Given the description of an element on the screen output the (x, y) to click on. 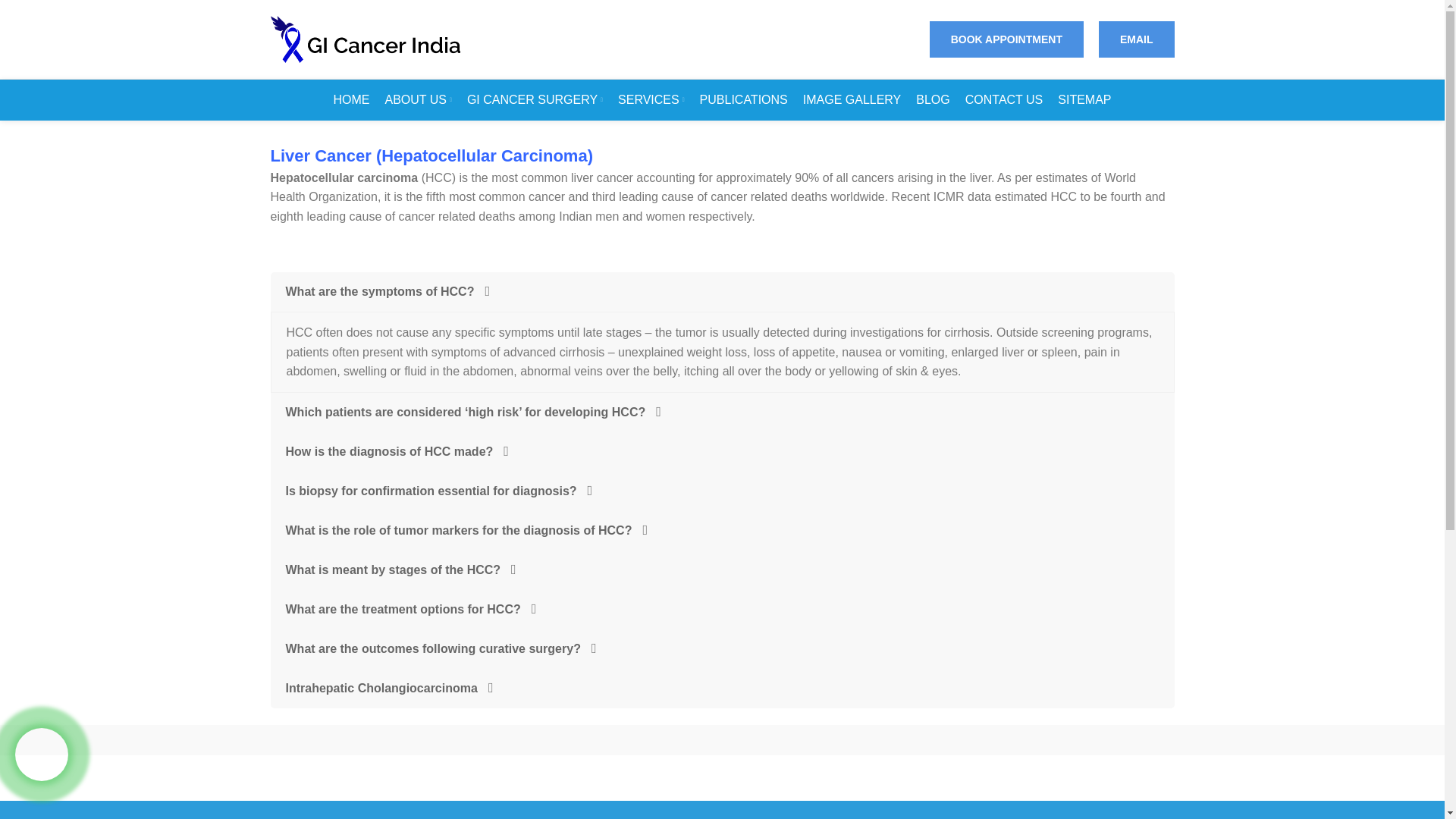
EMAIL (1136, 39)
SERVICES (651, 100)
GI CANCER SURGERY (535, 100)
BOOK APPOINTMENT (1006, 39)
IMAGE GALLERY (851, 100)
SITEMAP (1083, 100)
CONTACT US (1004, 100)
BLOG (932, 100)
What are the symptoms of HCC? (721, 291)
HOME (351, 100)
PUBLICATIONS (743, 100)
ABOUT US (418, 100)
